Given the description of an element on the screen output the (x, y) to click on. 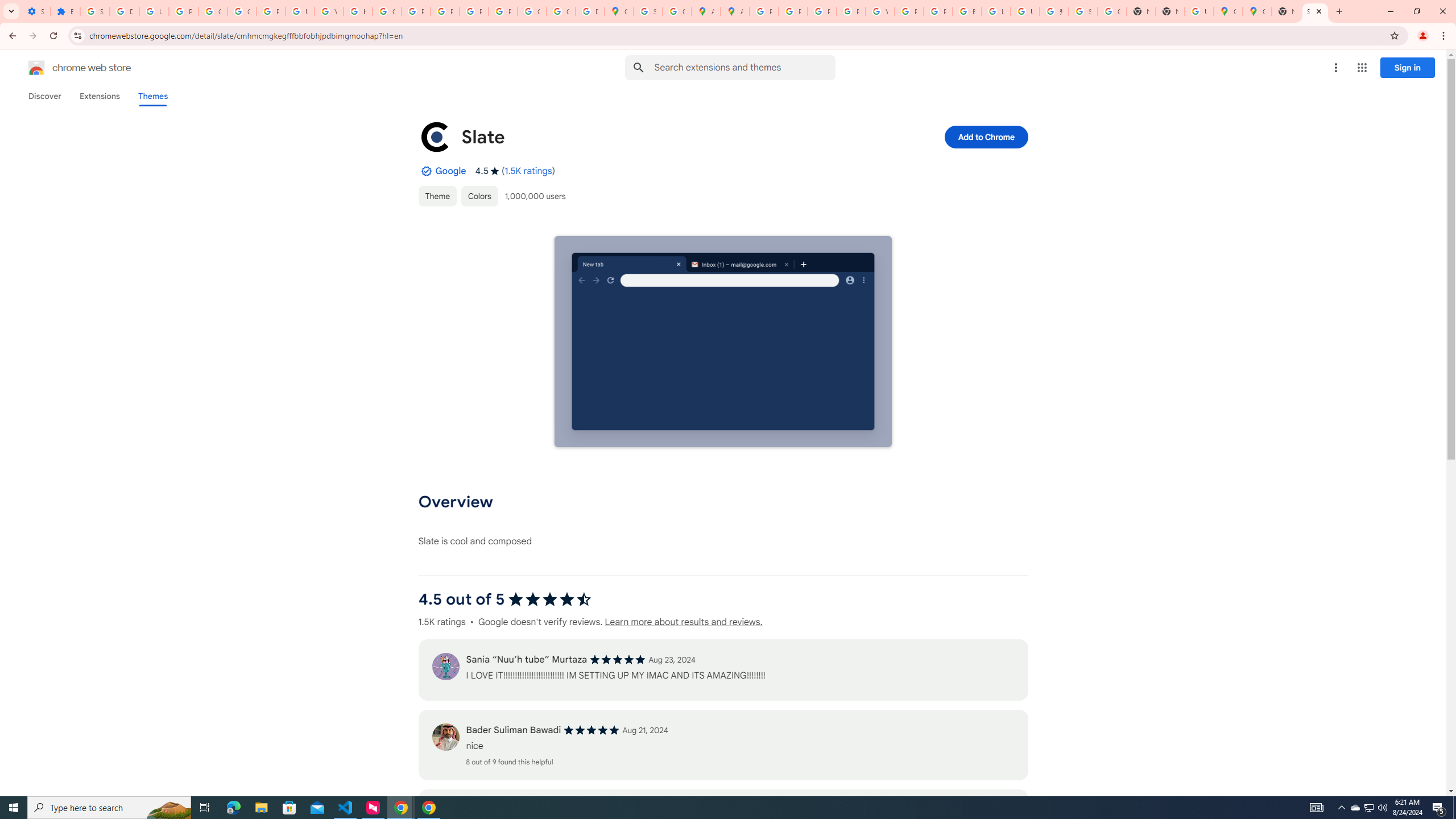
Delete photos & videos - Computer - Google Photos Help (124, 11)
Privacy Help Center - Policies Help (821, 11)
Sign in - Google Accounts (95, 11)
Theme (437, 195)
